Given the description of an element on the screen output the (x, y) to click on. 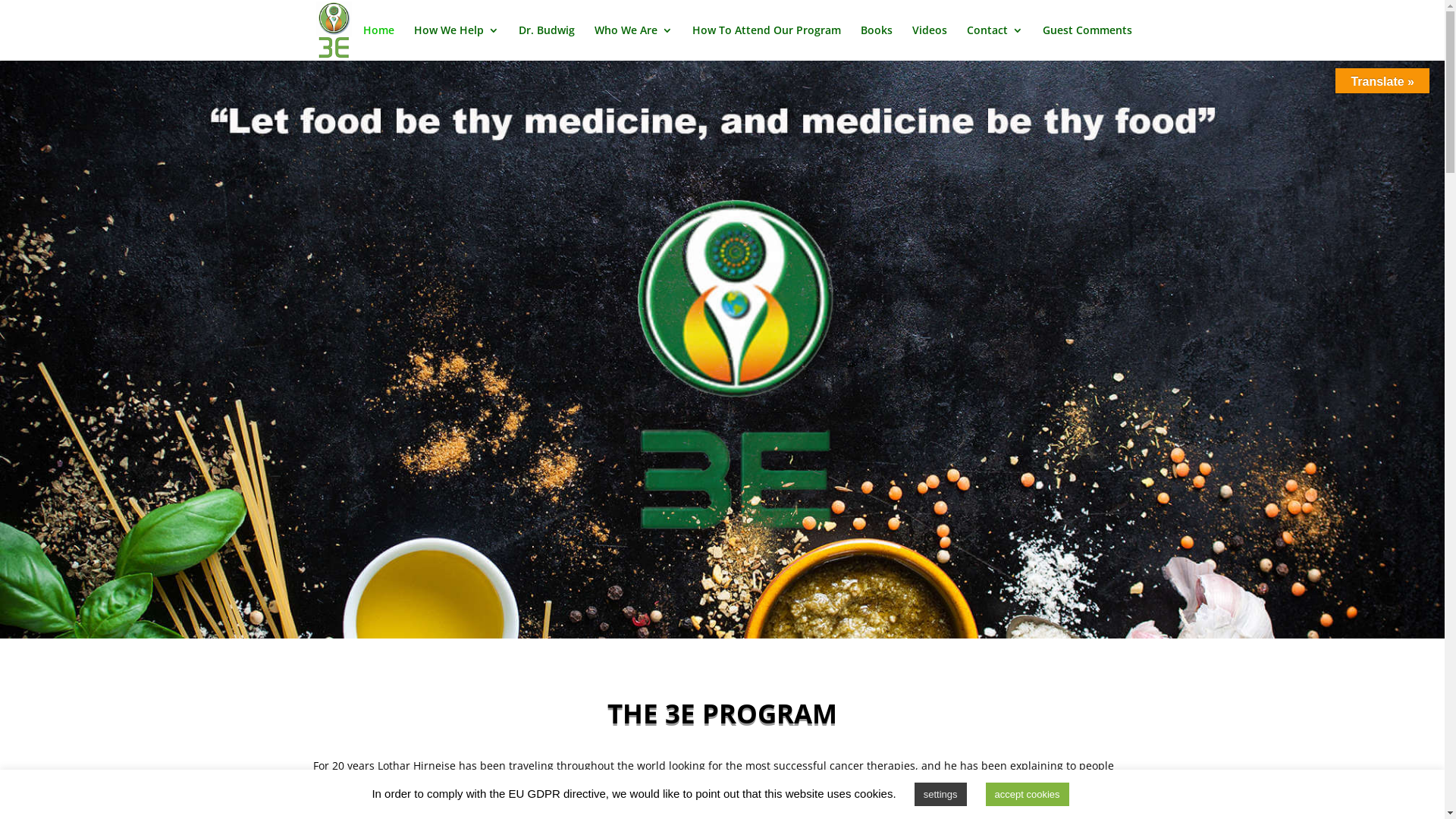
Contact Element type: text (994, 42)
Guest Comments Element type: text (1086, 42)
Books Element type: text (875, 42)
Dr. Budwig Element type: text (546, 42)
Home Element type: text (377, 42)
accept cookies Element type: text (1027, 794)
Videos Element type: text (928, 42)
settings Element type: text (940, 794)
Who We Are Element type: text (633, 42)
How We Help Element type: text (456, 42)
3E Alternative Cancer Therapies Element type: hover (722, 349)
How To Attend Our Program Element type: text (765, 42)
